Given the description of an element on the screen output the (x, y) to click on. 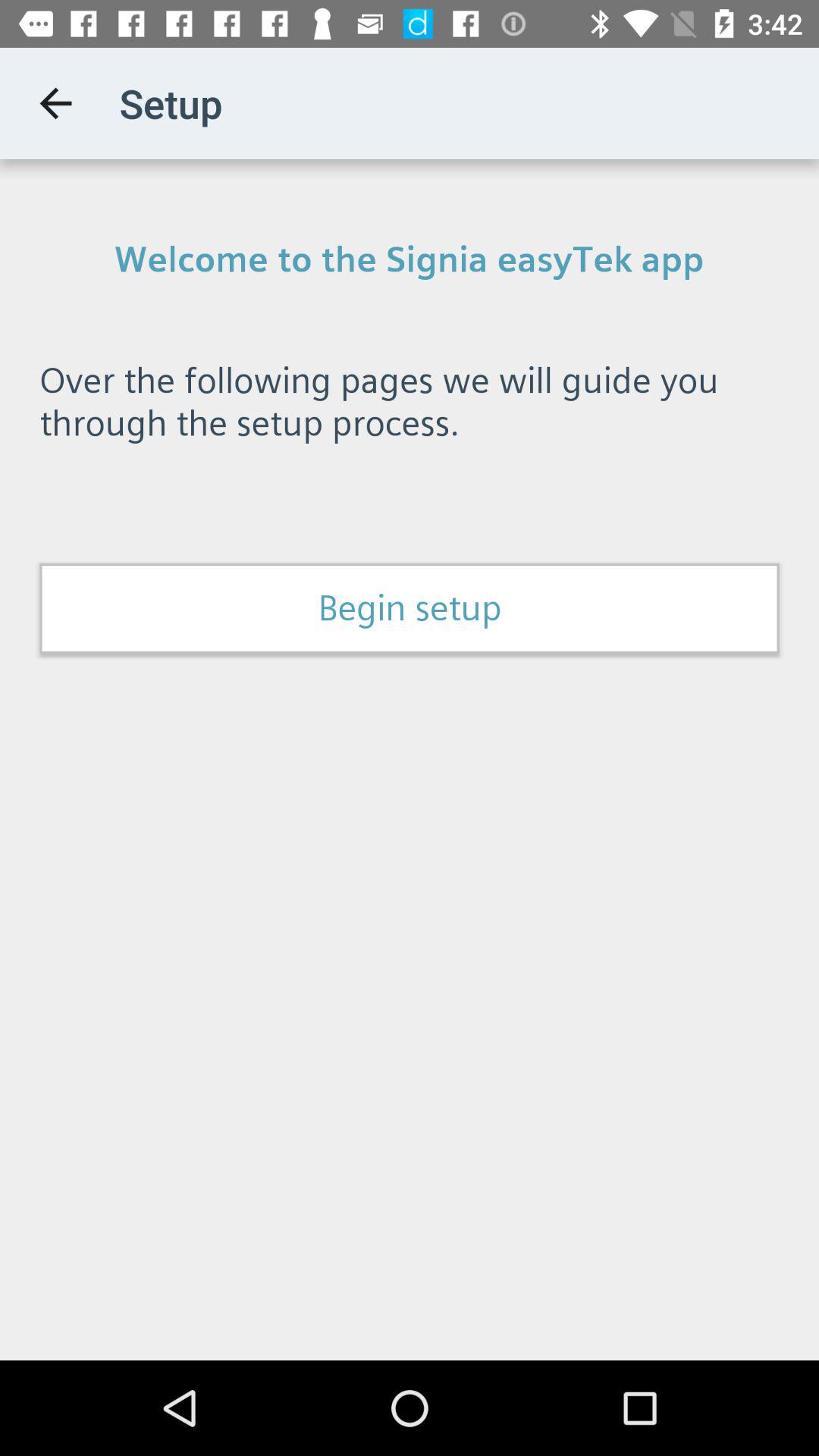
launch item below the over the following item (409, 608)
